Given the description of an element on the screen output the (x, y) to click on. 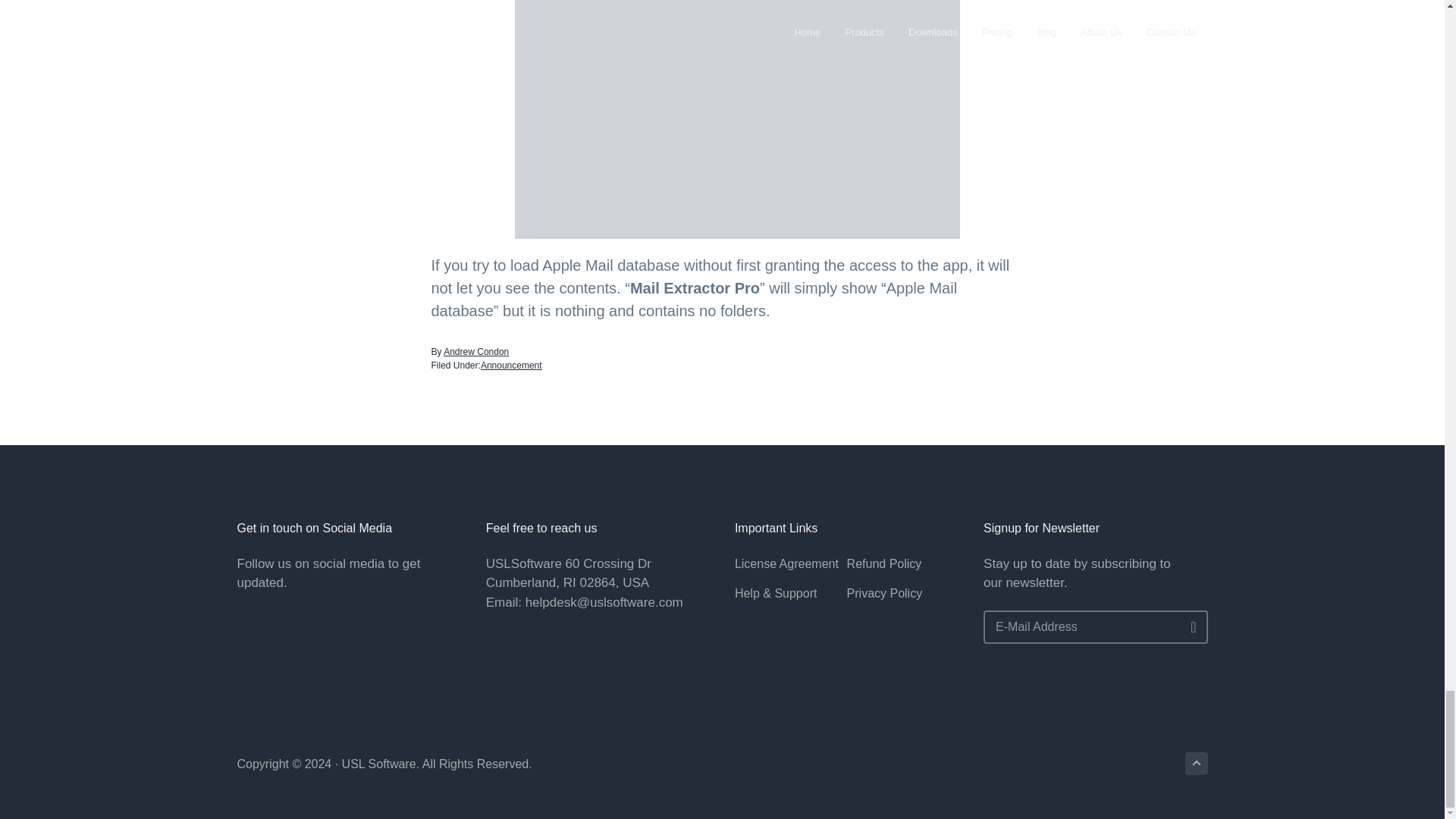
Go (1188, 627)
Go (1188, 627)
License Agreement (791, 564)
Announcement (510, 365)
Refund Policy (903, 564)
Privacy Policy (903, 593)
Andrew Condon (476, 351)
